Given the description of an element on the screen output the (x, y) to click on. 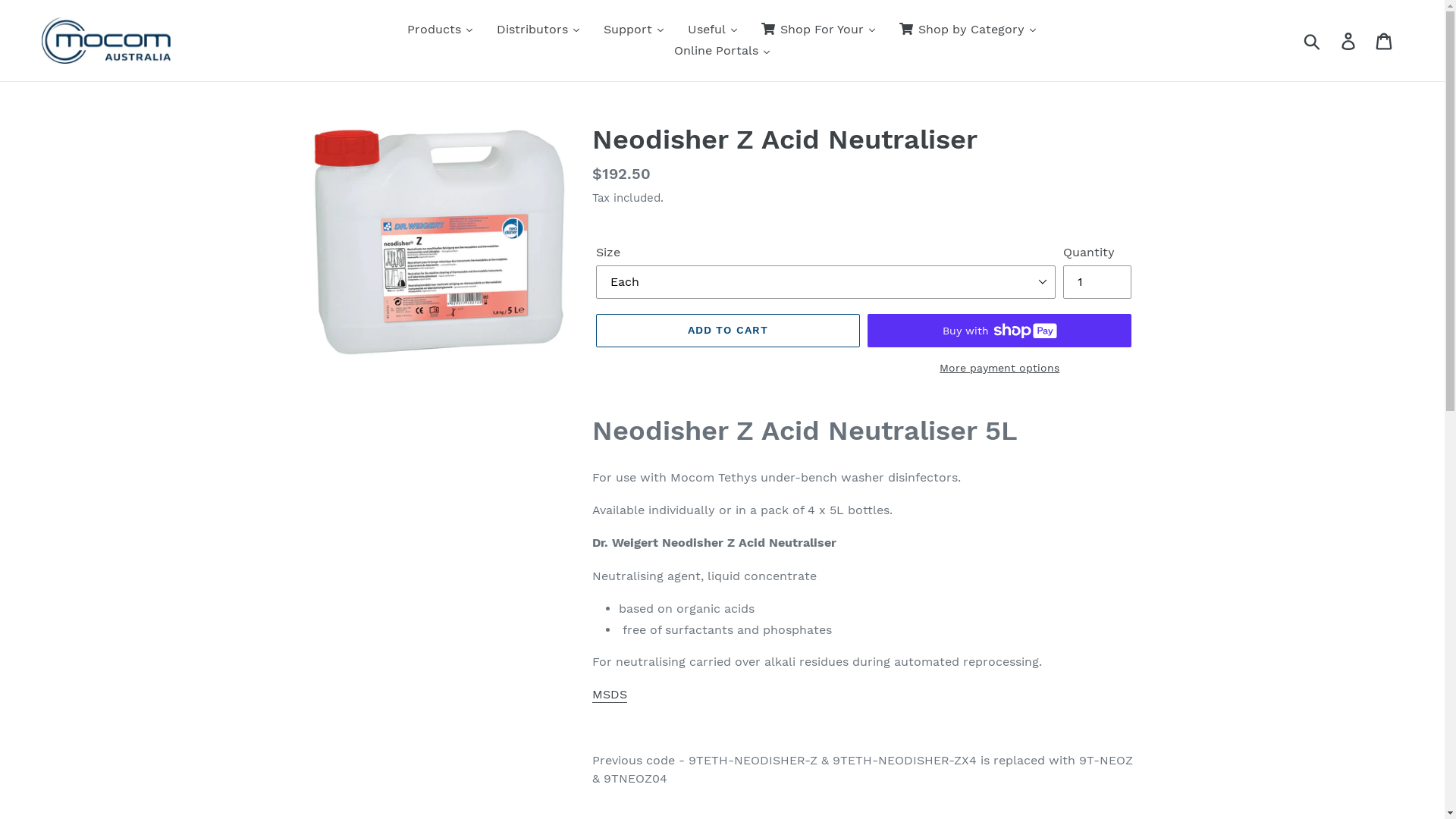
Online Portals Element type: text (722, 50)
Shop For Your Element type: text (818, 29)
MSDS Element type: text (609, 694)
Distributors Element type: text (538, 29)
Cart Element type: text (1384, 40)
Support Element type: text (634, 29)
More payment options Element type: text (999, 367)
Products Element type: text (440, 29)
Log in Element type: text (1349, 40)
Useful Element type: text (712, 29)
Submit Element type: text (1312, 39)
Shop by Category Element type: text (968, 29)
ADD TO CART Element type: text (727, 330)
